Given the description of an element on the screen output the (x, y) to click on. 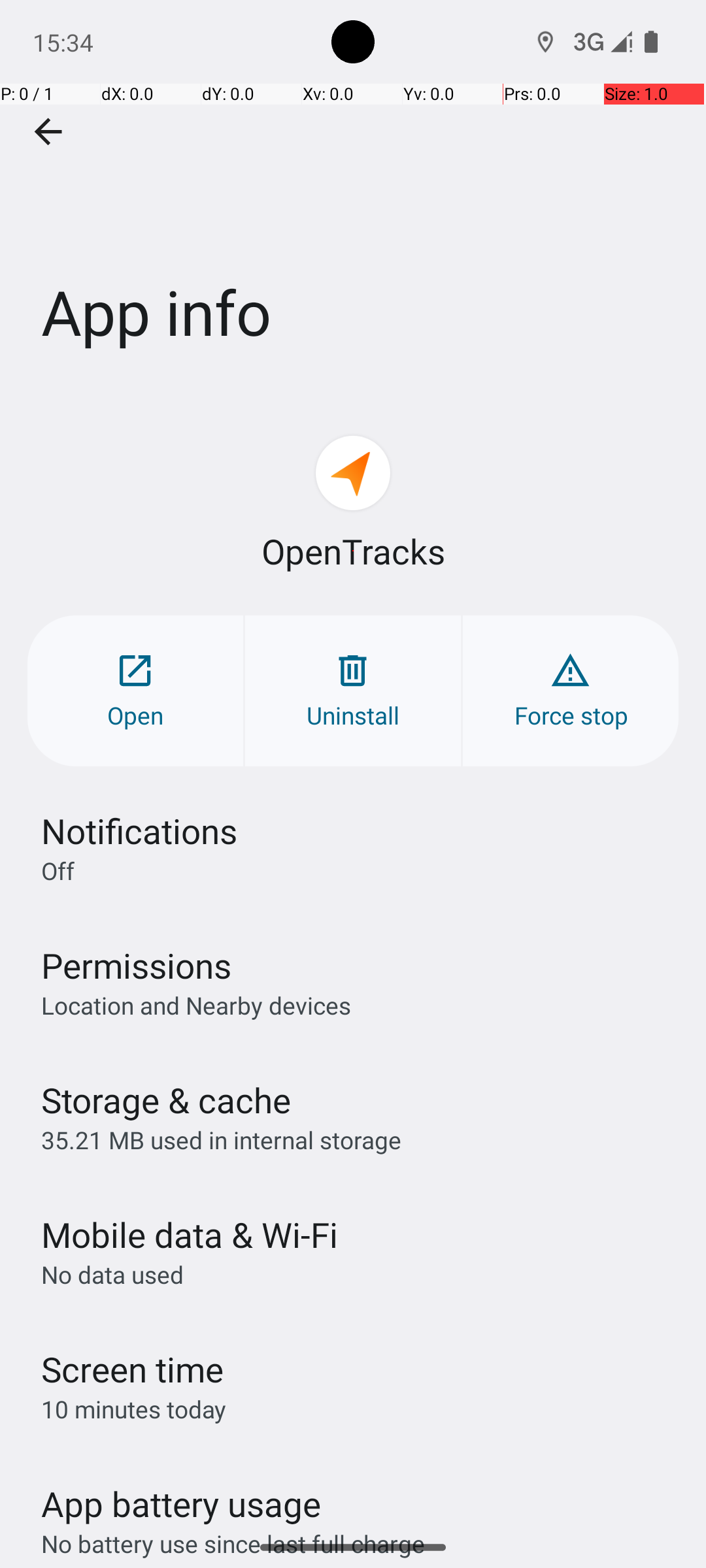
Open Element type: android.widget.Button (135, 690)
Uninstall Element type: android.widget.Button (352, 690)
Location and Nearby devices Element type: android.widget.TextView (196, 1004)
35.21 MB used in internal storage Element type: android.widget.TextView (221, 1139)
No data used Element type: android.widget.TextView (112, 1273)
10 minutes today Element type: android.widget.TextView (133, 1408)
App battery usage Element type: android.widget.TextView (181, 1503)
